Given the description of an element on the screen output the (x, y) to click on. 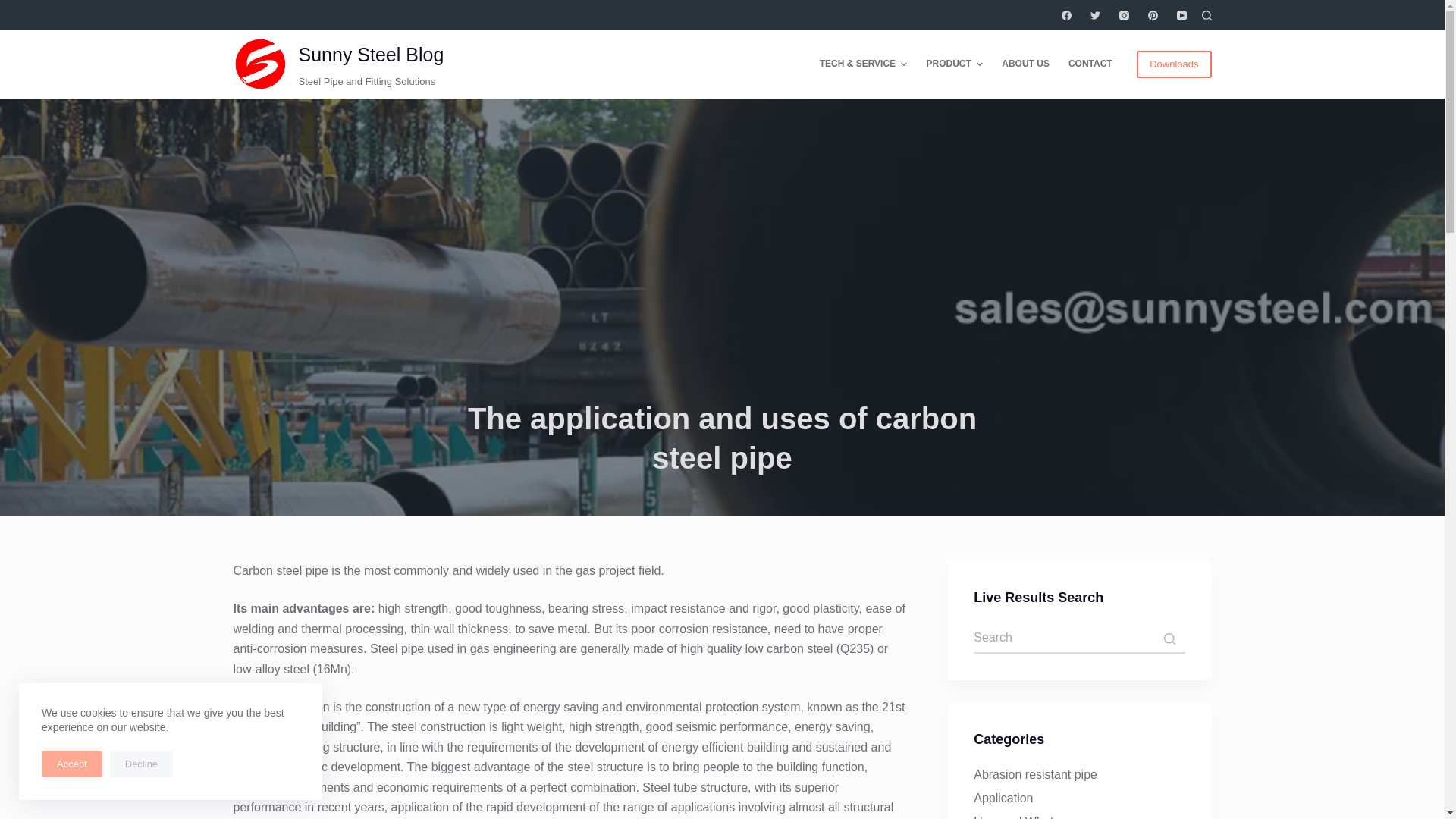
Search for... (1079, 638)
The application and uses of carbon steel pipe (722, 437)
Sunny Steel Blog (371, 54)
Skip to content (15, 7)
Accept (71, 764)
Decline (141, 764)
